Given the description of an element on the screen output the (x, y) to click on. 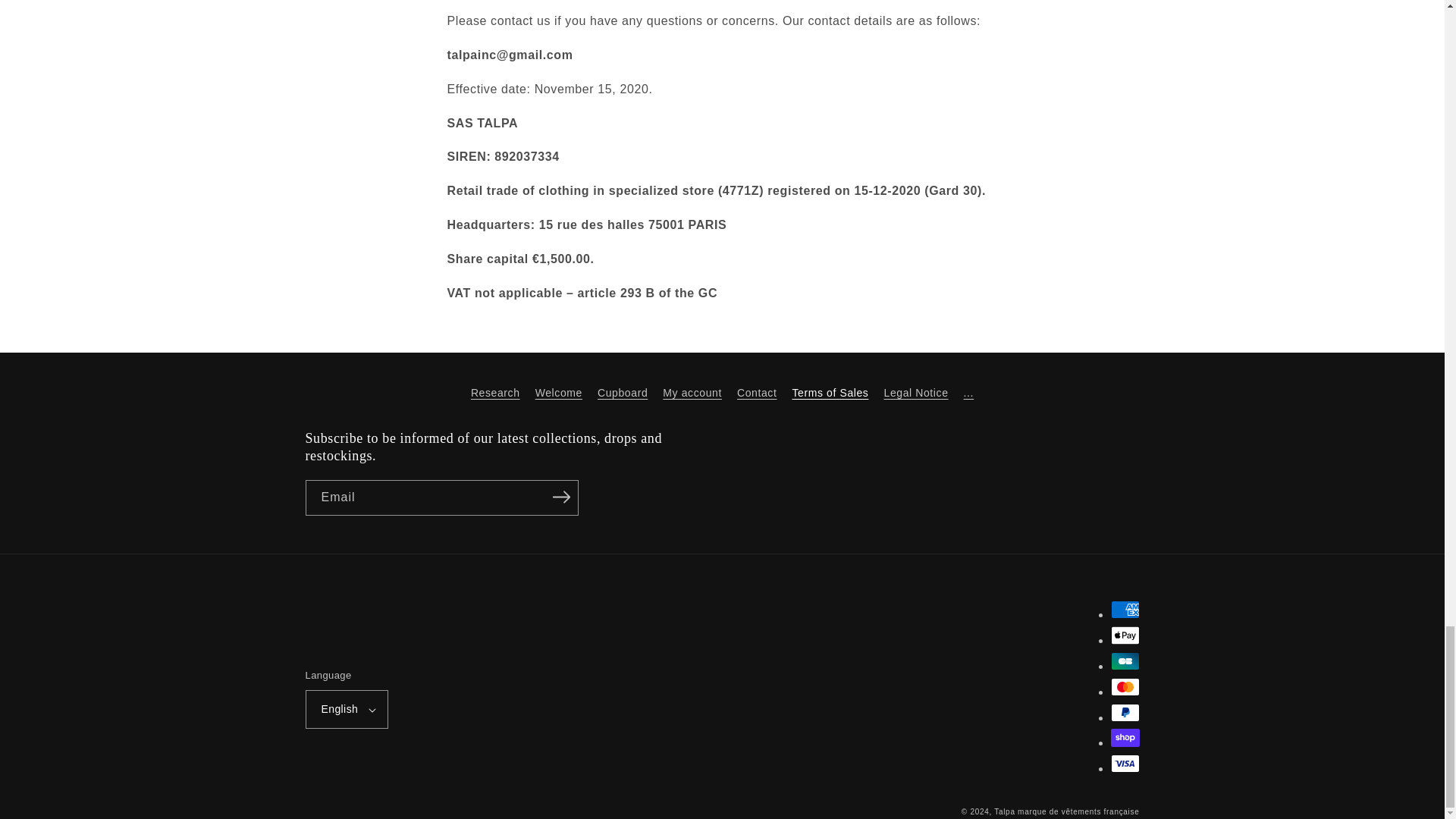
American Express (1123, 609)
Cartes Bancaires (1123, 660)
Mastercard (1123, 687)
Visa (1123, 763)
PayPal (1123, 712)
Apple Pay (1123, 635)
Shop Pay (1123, 737)
